Given the description of an element on the screen output the (x, y) to click on. 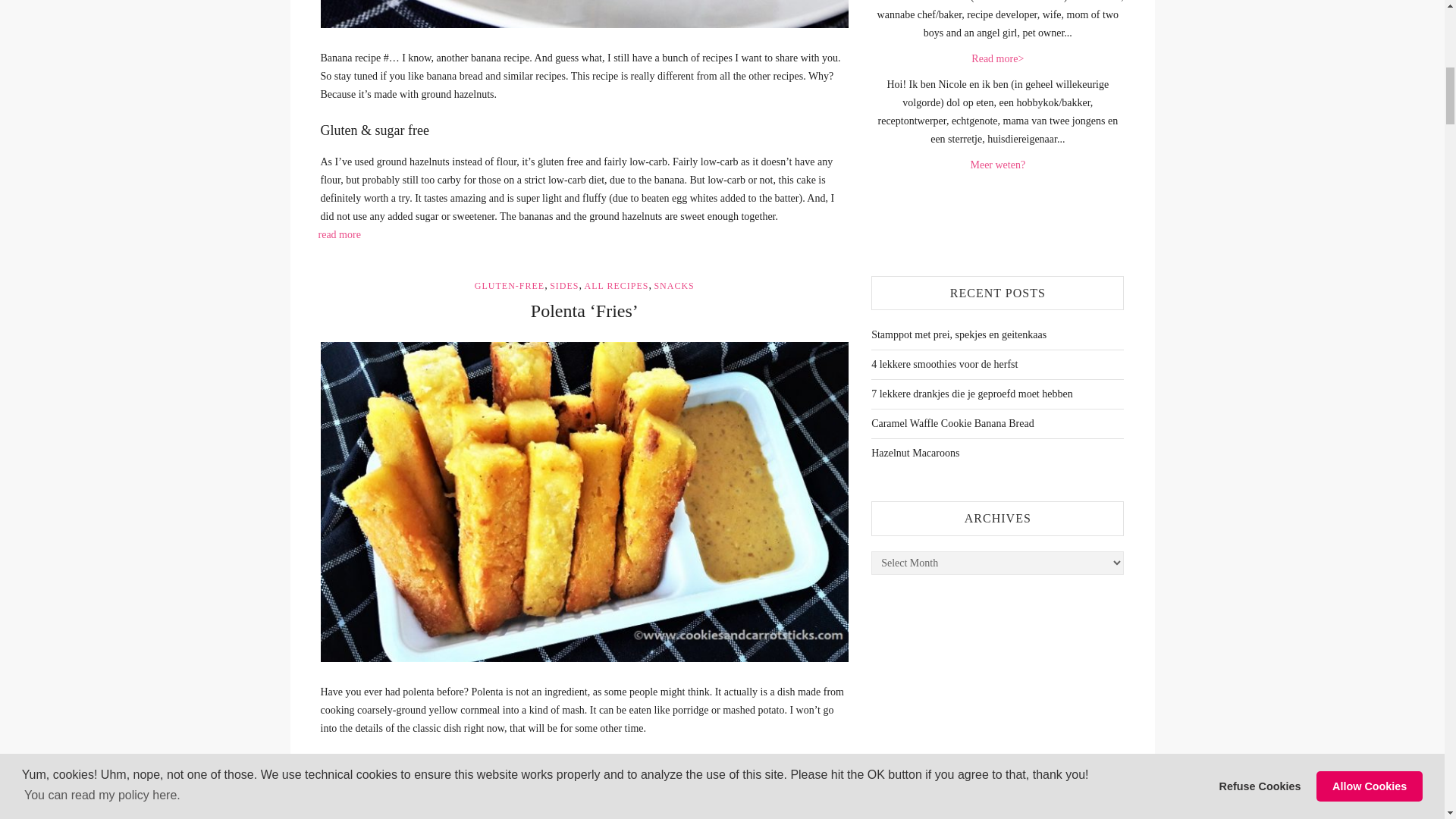
Banana Hazelnut Snack Cake (584, 13)
